Given the description of an element on the screen output the (x, y) to click on. 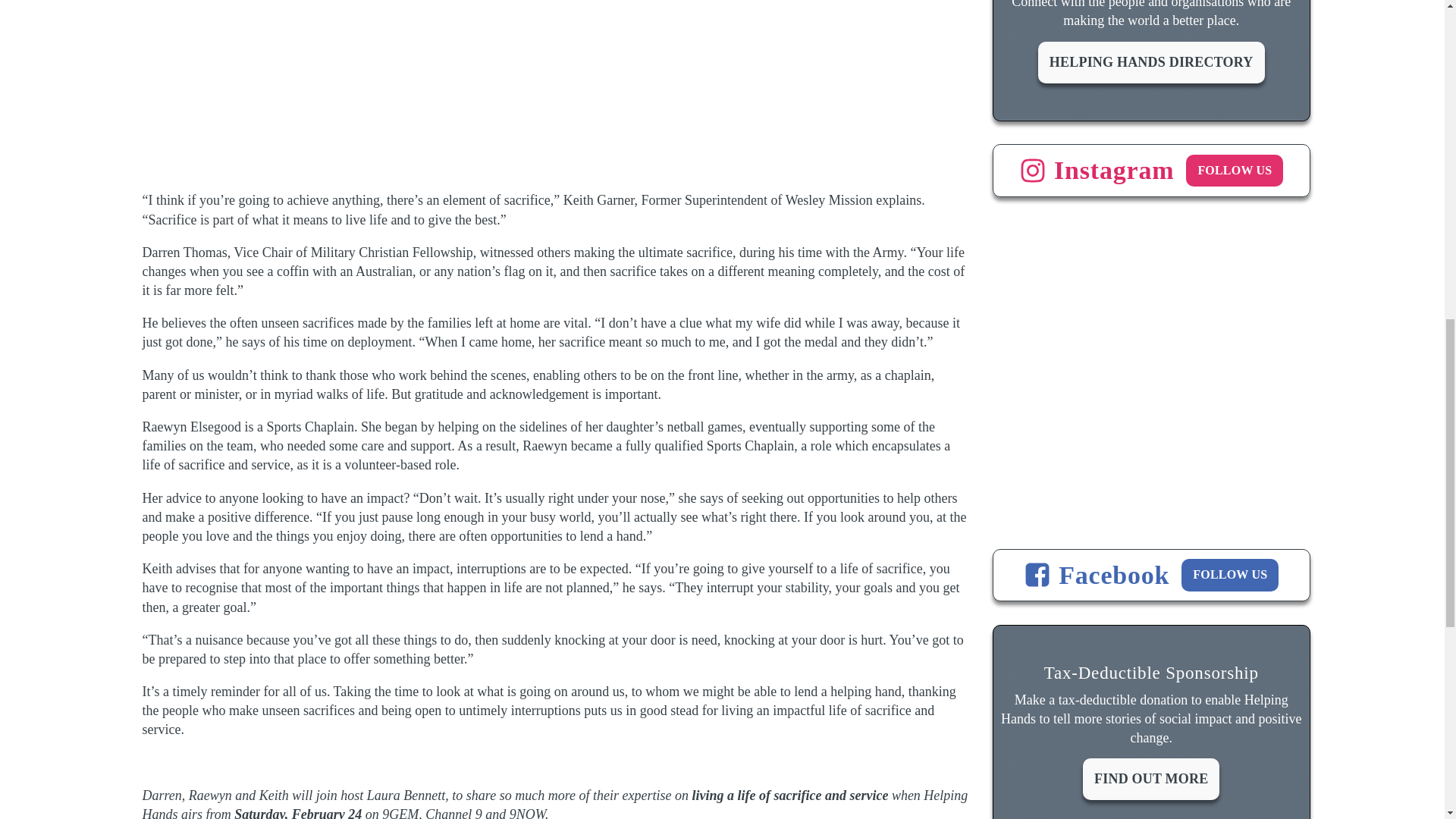
FIND OUT MORE (1151, 779)
FOLLOW US (1229, 574)
HELPING HANDS DIRECTORY (1151, 62)
FOLLOW US (1234, 170)
